Given the description of an element on the screen output the (x, y) to click on. 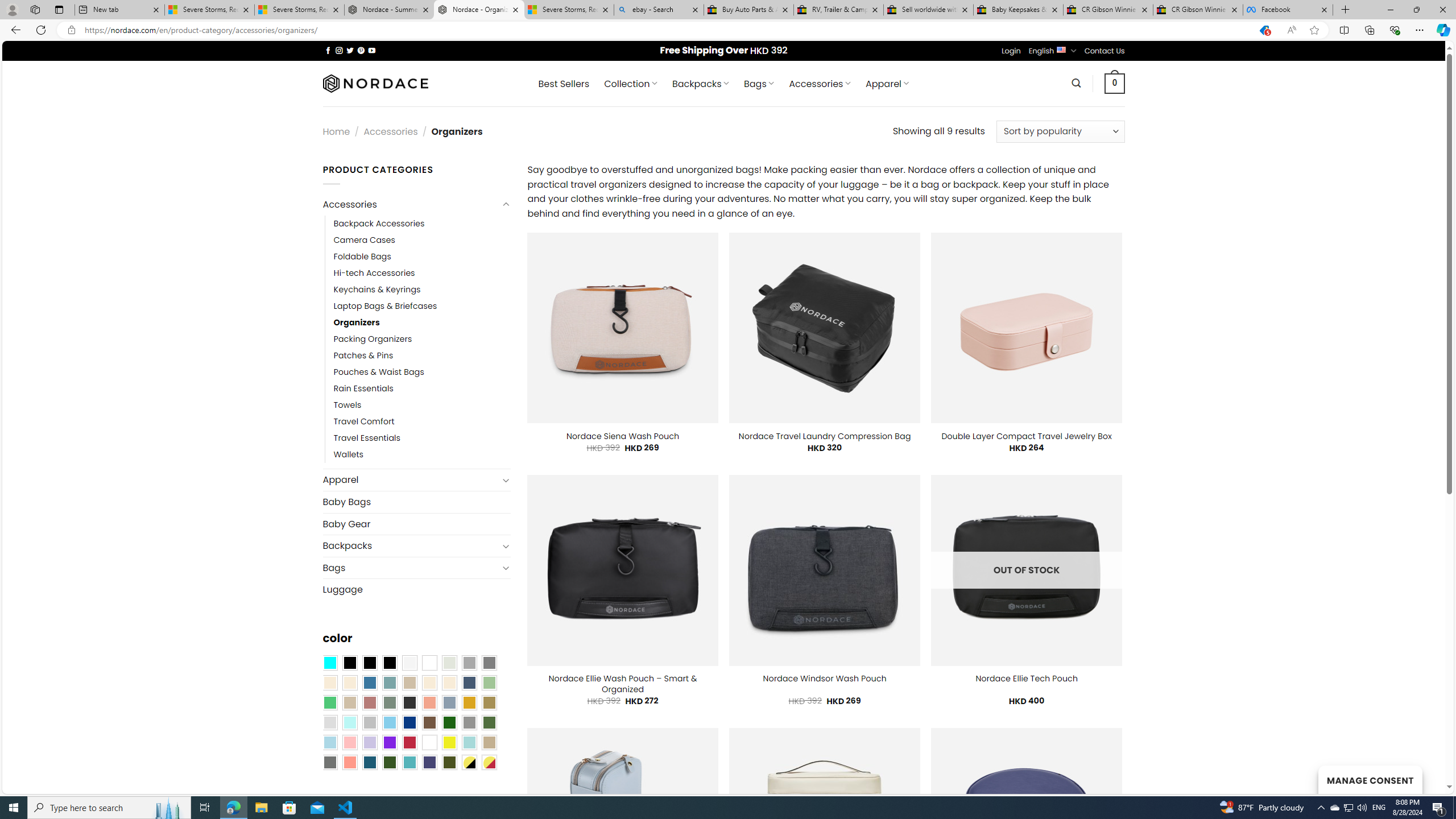
Accessories (410, 204)
Sell worldwide with eBay (928, 9)
Luggage (416, 589)
Shop order (1060, 131)
Pink (349, 741)
Rain Essentials (422, 388)
Foldable Bags (362, 256)
Baby Keepsakes & Announcements for sale | eBay (1018, 9)
Peach Pink (349, 762)
Contact Us (1104, 50)
Aqua Blue (329, 662)
